Given the description of an element on the screen output the (x, y) to click on. 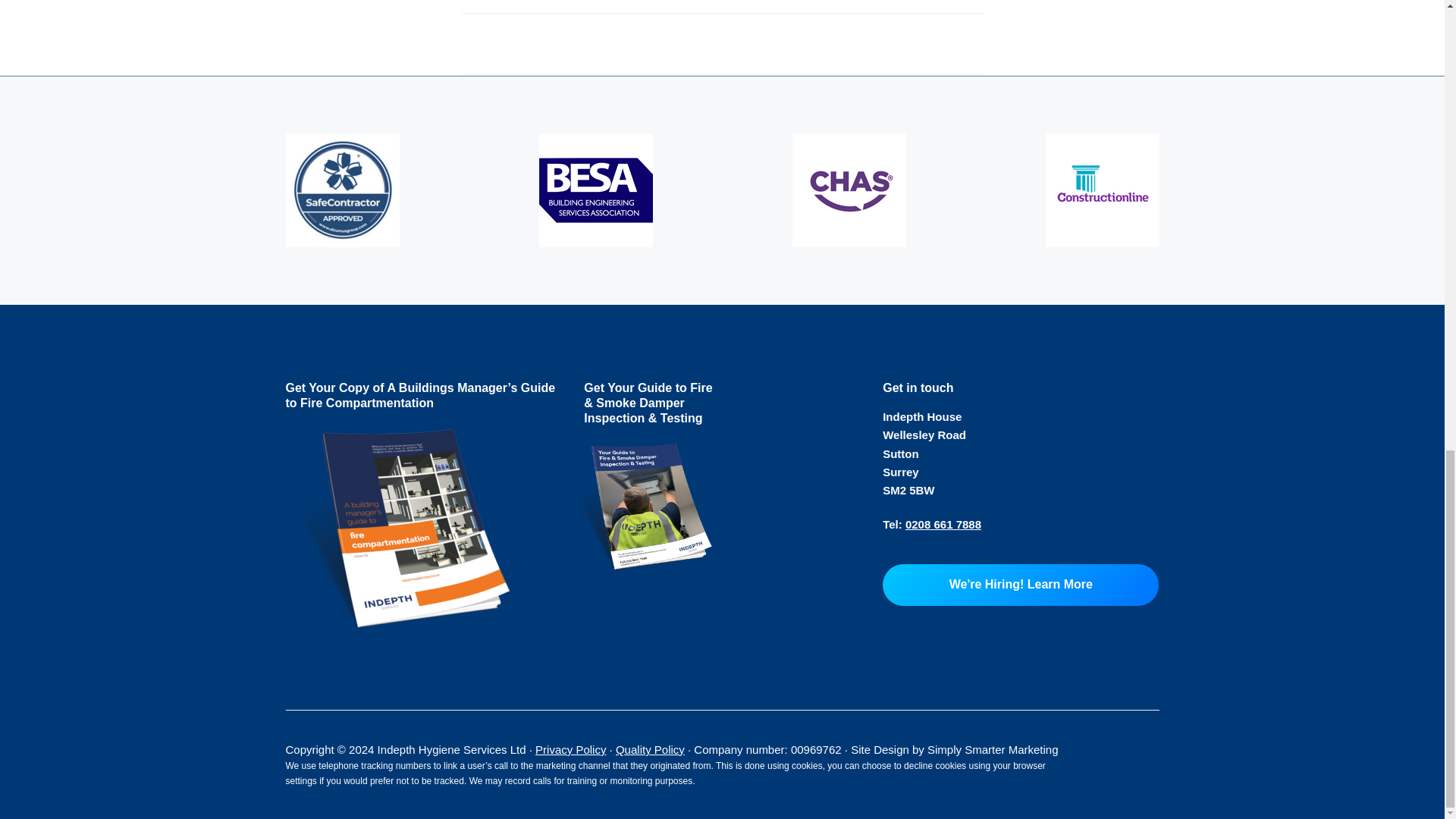
We're Hiring! Learn More (1020, 584)
Quality Policy (649, 748)
Privacy Policy (570, 748)
0208 661 7888 (943, 523)
